Given the description of an element on the screen output the (x, y) to click on. 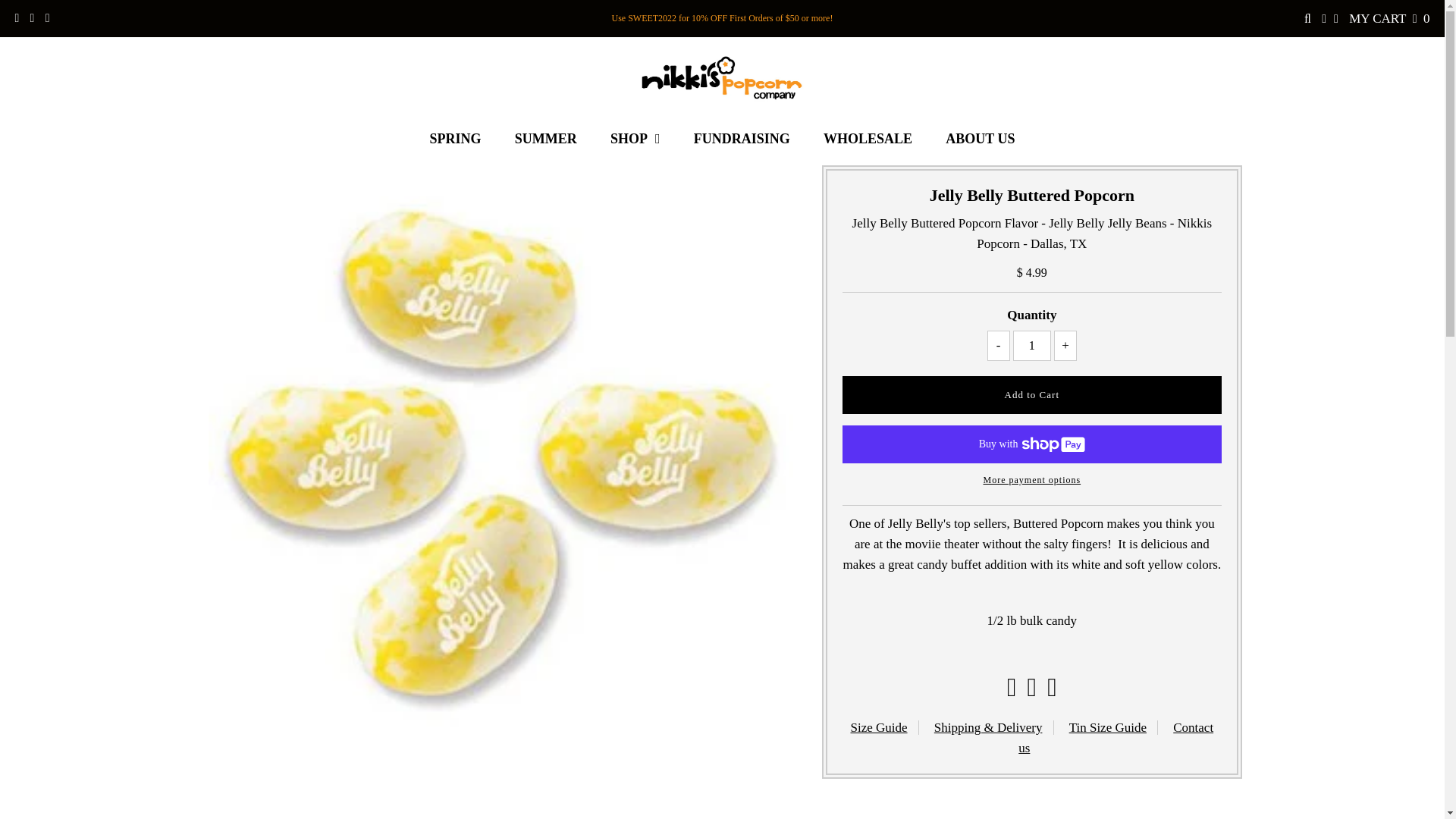
Add to Cart (1032, 394)
SHOP (635, 138)
MY CART    0 (1389, 18)
SPRING (454, 138)
1 (1032, 345)
SUMMER (545, 138)
